Given the description of an element on the screen output the (x, y) to click on. 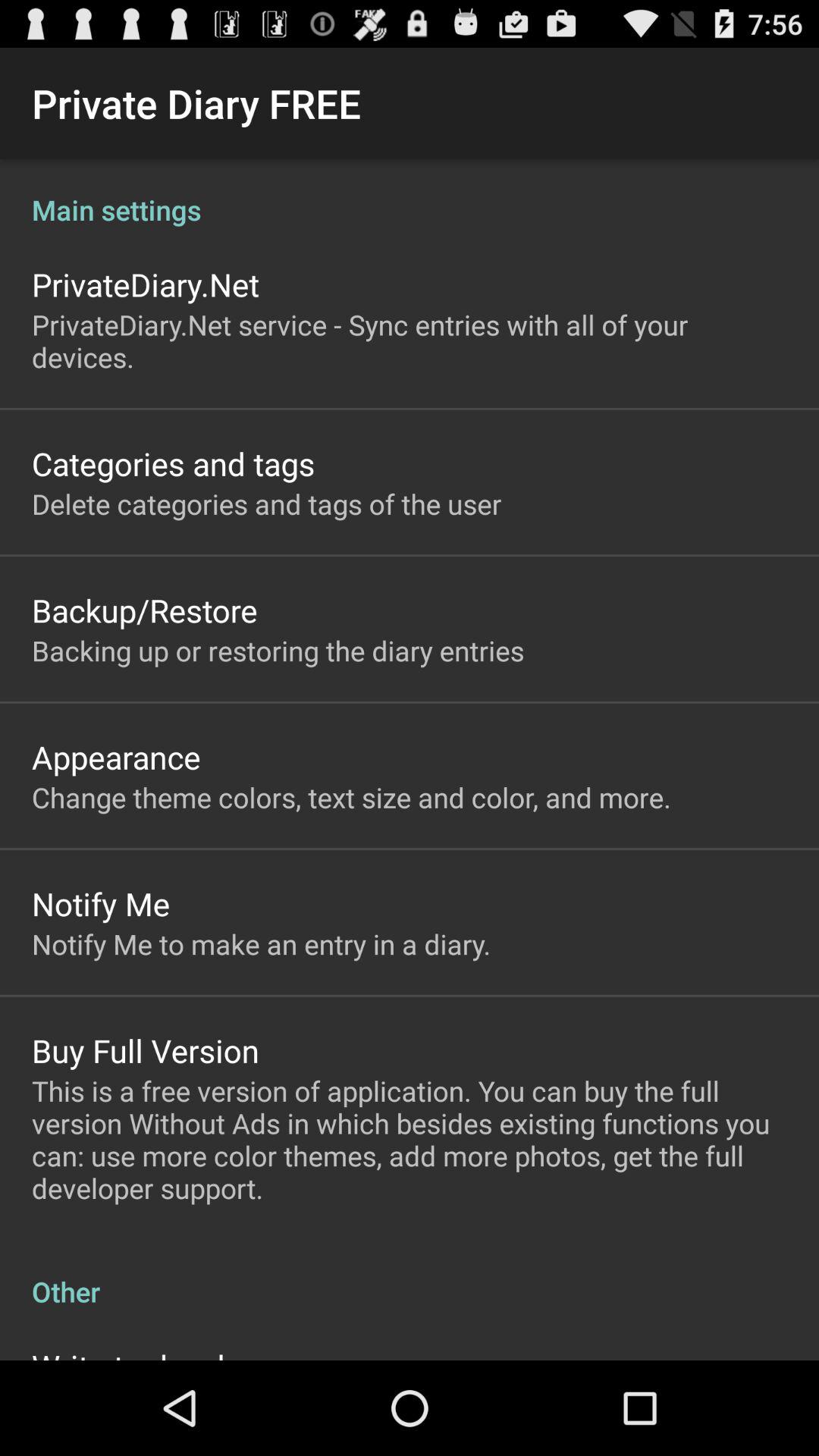
launch icon above the write to developer app (409, 1275)
